Given the description of an element on the screen output the (x, y) to click on. 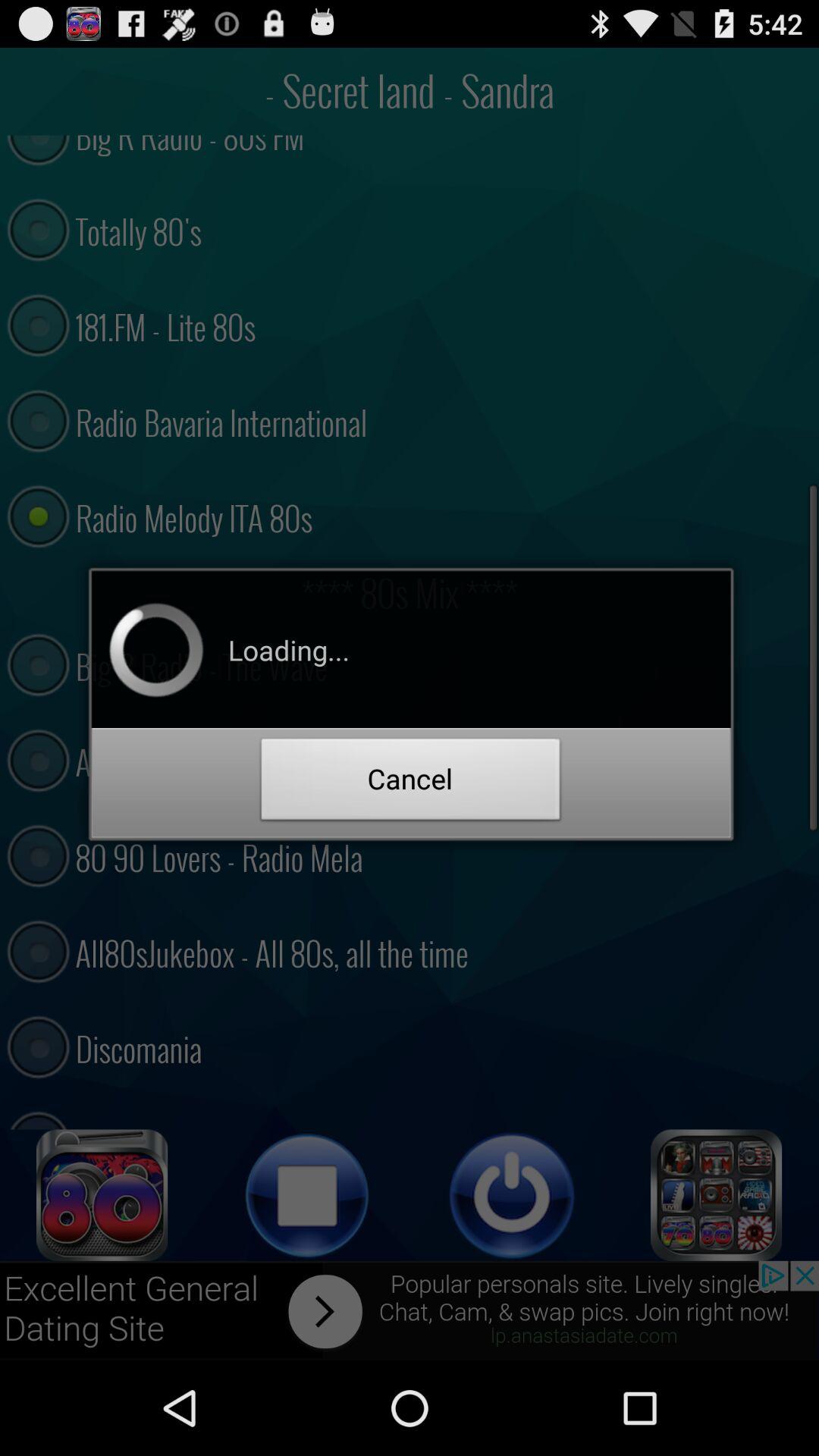
go to dating site (102, 1194)
